Given the description of an element on the screen output the (x, y) to click on. 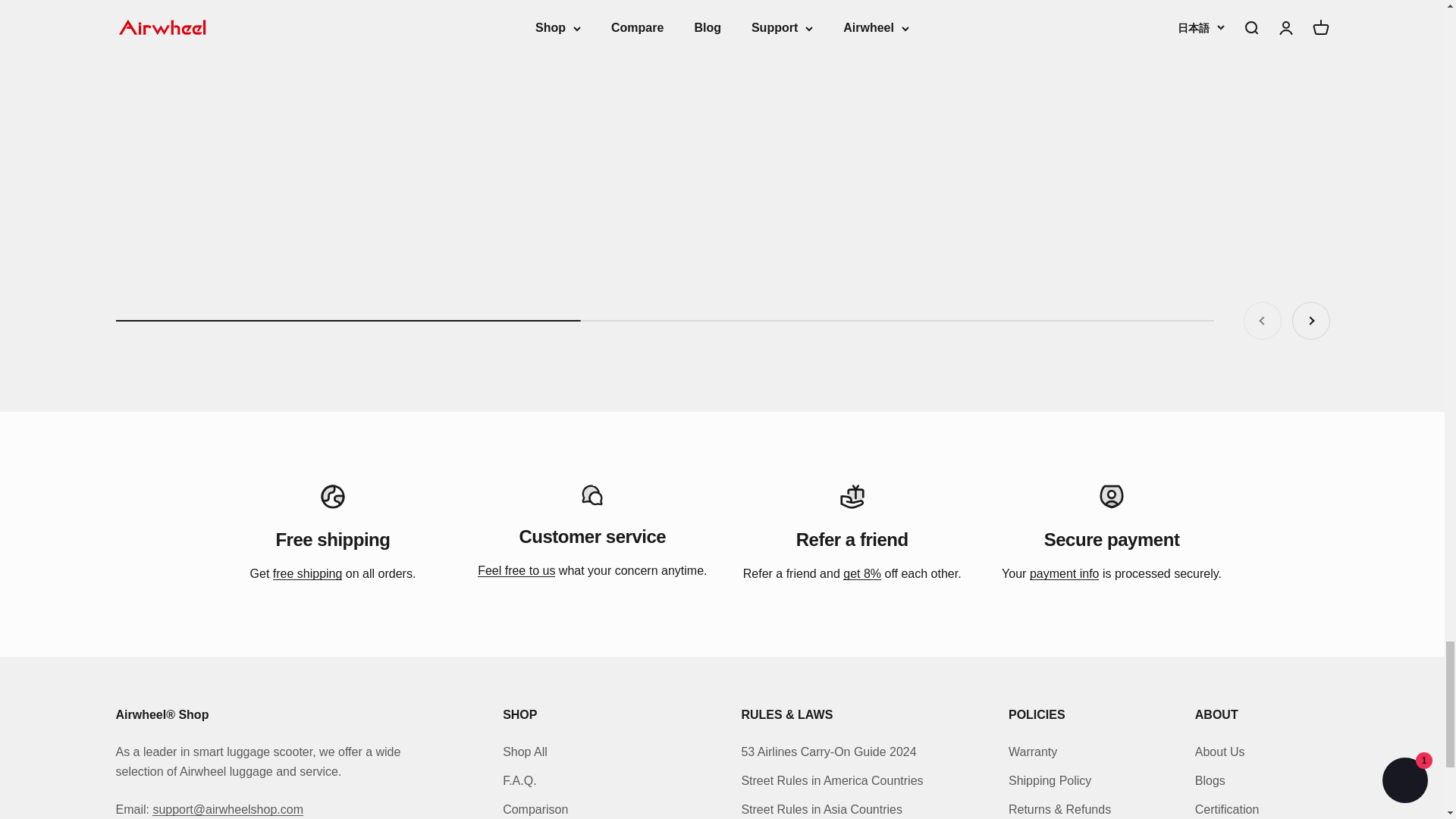
Contact Us (515, 570)
Payment Methods (1064, 573)
Shipping Policy (307, 573)
Become an Affiliate (861, 573)
